Given the description of an element on the screen output the (x, y) to click on. 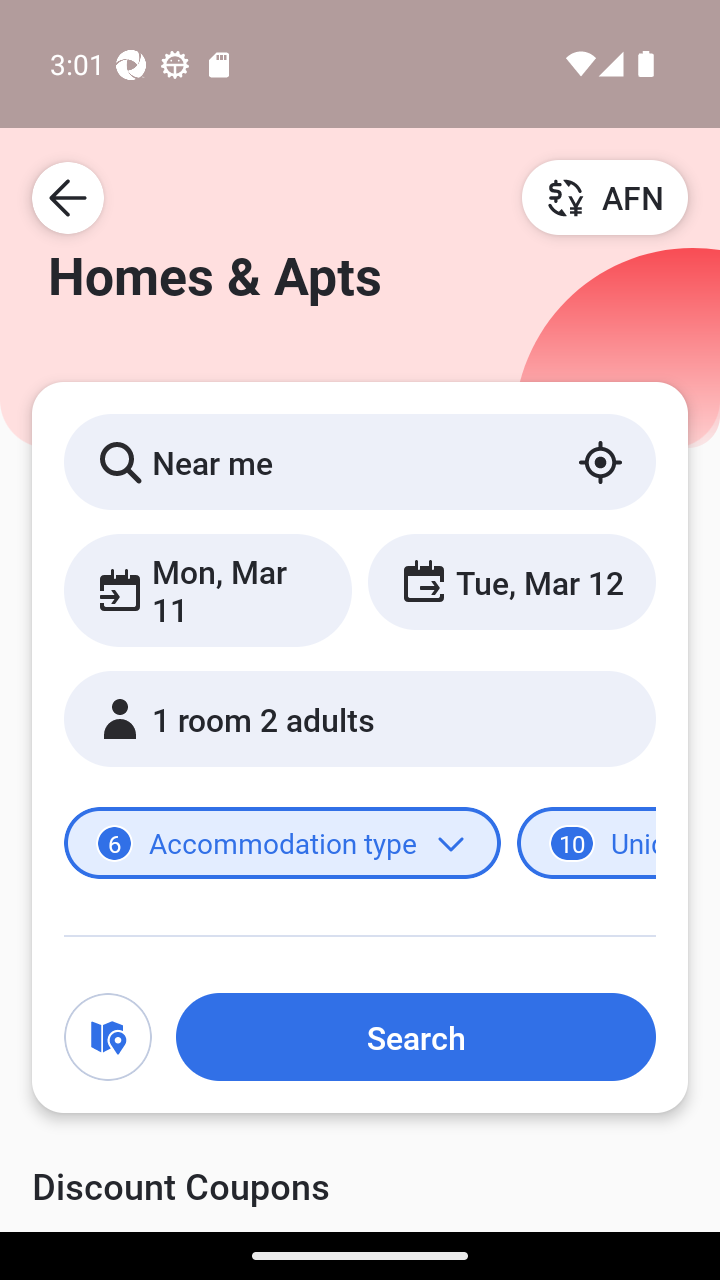
AFN (605, 197)
Near me (359, 461)
Mon, Mar 11 (208, 589)
Tue, Mar 12 (511, 581)
1 room 2 adults (359, 718)
6 Accommodation type (282, 842)
Search (415, 1037)
